Given the description of an element on the screen output the (x, y) to click on. 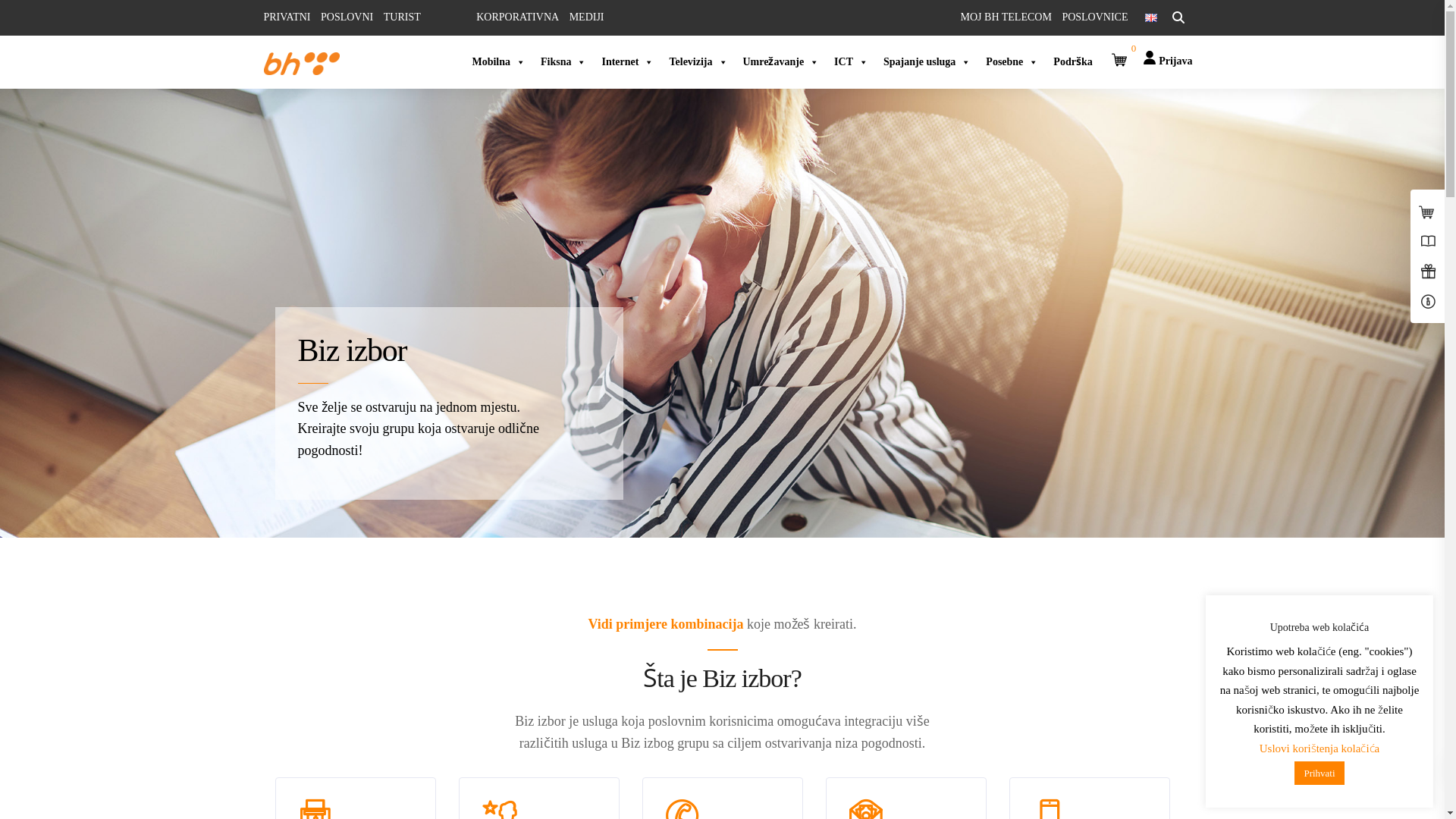
Internet Element type: text (627, 62)
Fiksna Element type: text (563, 62)
POSLOVNI Element type: text (346, 16)
Karijera Element type: text (280, 627)
Prihvati Element type: text (1318, 772)
Spajanje usluga Element type: text (926, 62)
POSLOVNICE Element type: text (1094, 16)
Dostupnost usluga Element type: text (867, 628)
Prijava Element type: text (1167, 60)
Vidi primjere kombinacija Element type: text (665, 623)
PRIVATNI Element type: text (286, 16)
Posebne Element type: text (1011, 62)
Prijava Element type: text (1167, 52)
Sponzorstva Element type: text (477, 650)
Partneri Element type: text (468, 627)
Donacije Element type: text (470, 673)
Pristup informacijama Element type: text (310, 650)
Katalog Element type: text (656, 673)
Bonus plus Element type: text (1039, 605)
MEDIJI Element type: text (586, 16)
Nabavke i pozivi Element type: text (299, 605)
Veleprodaja Element type: text (476, 605)
MOJ BH TELECOM Element type: text (1005, 16)
Moja webTV Element type: text (856, 651)
Mobilna Element type: text (498, 62)
Televizija Element type: text (697, 62)
ICT Element type: text (850, 62)
TURIST Element type: text (401, 16)
Moj BH Telecom Element type: text (881, 605)
Pretplati se Element type: text (1046, 696)
Cjenovnik usluga Element type: text (677, 605)
KORPORATIVNA Element type: text (517, 16)
Arhiva vijesti Element type: text (292, 673)
Uslovi akcija Element type: text (668, 650)
Arhiva obavijesti Element type: text (300, 696)
